Given the description of an element on the screen output the (x, y) to click on. 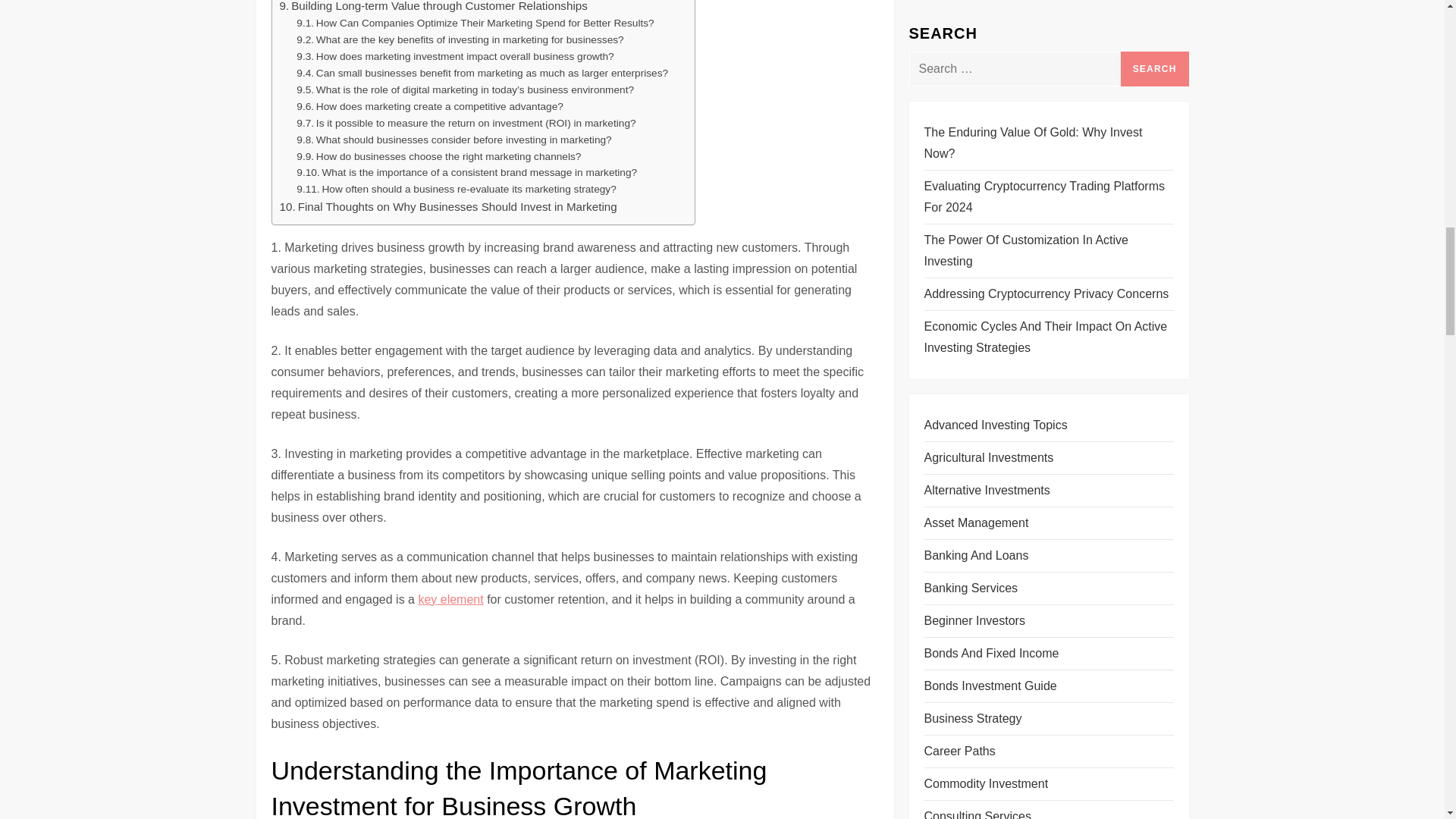
key element (450, 599)
Building Long-term Value through Customer Relationships (432, 7)
How do businesses choose the right marketing channels? (438, 156)
How does marketing create a competitive advantage? (430, 106)
Final Thoughts on Why Businesses Should Invest in Marketing (447, 207)
Building Long-term Value through Customer Relationships (432, 7)
